Given the description of an element on the screen output the (x, y) to click on. 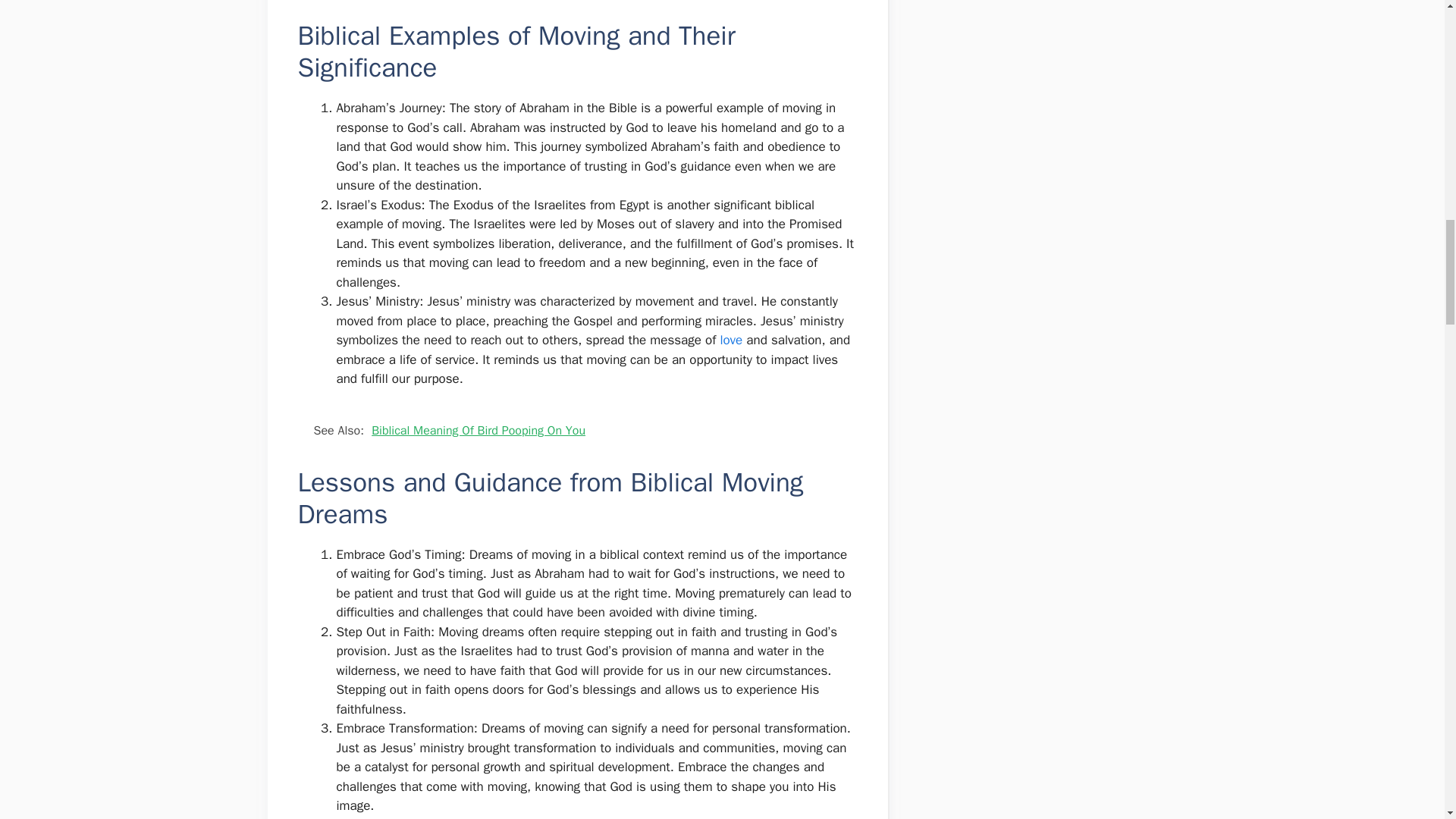
love (730, 340)
See Also:  Biblical Meaning Of Bird Pooping On You (577, 430)
love (730, 340)
